Given the description of an element on the screen output the (x, y) to click on. 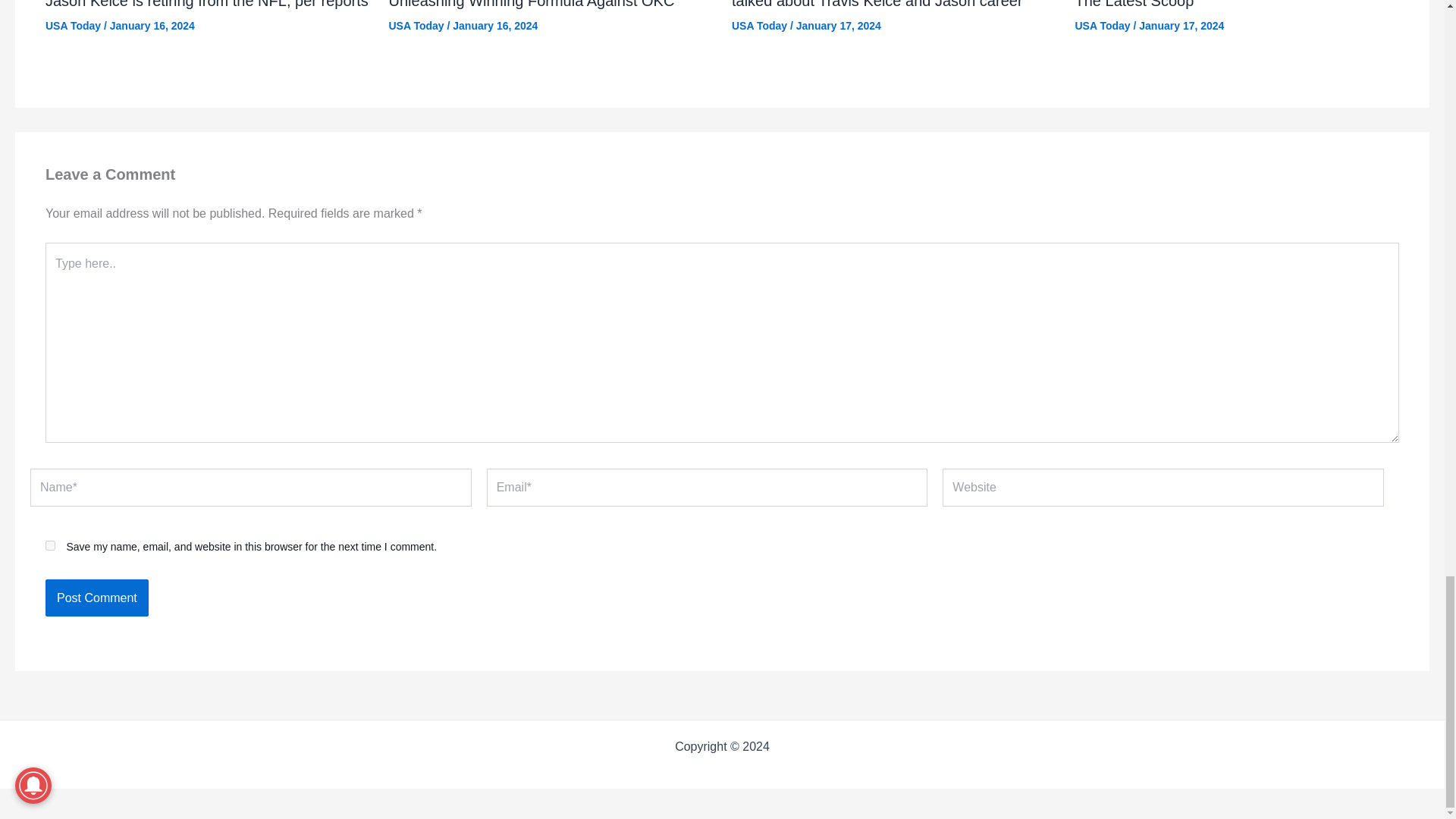
Post Comment (96, 598)
yes (50, 545)
USA Today (72, 25)
USA Today (416, 25)
USA Today (759, 25)
USA Today (1103, 25)
